Given the description of an element on the screen output the (x, y) to click on. 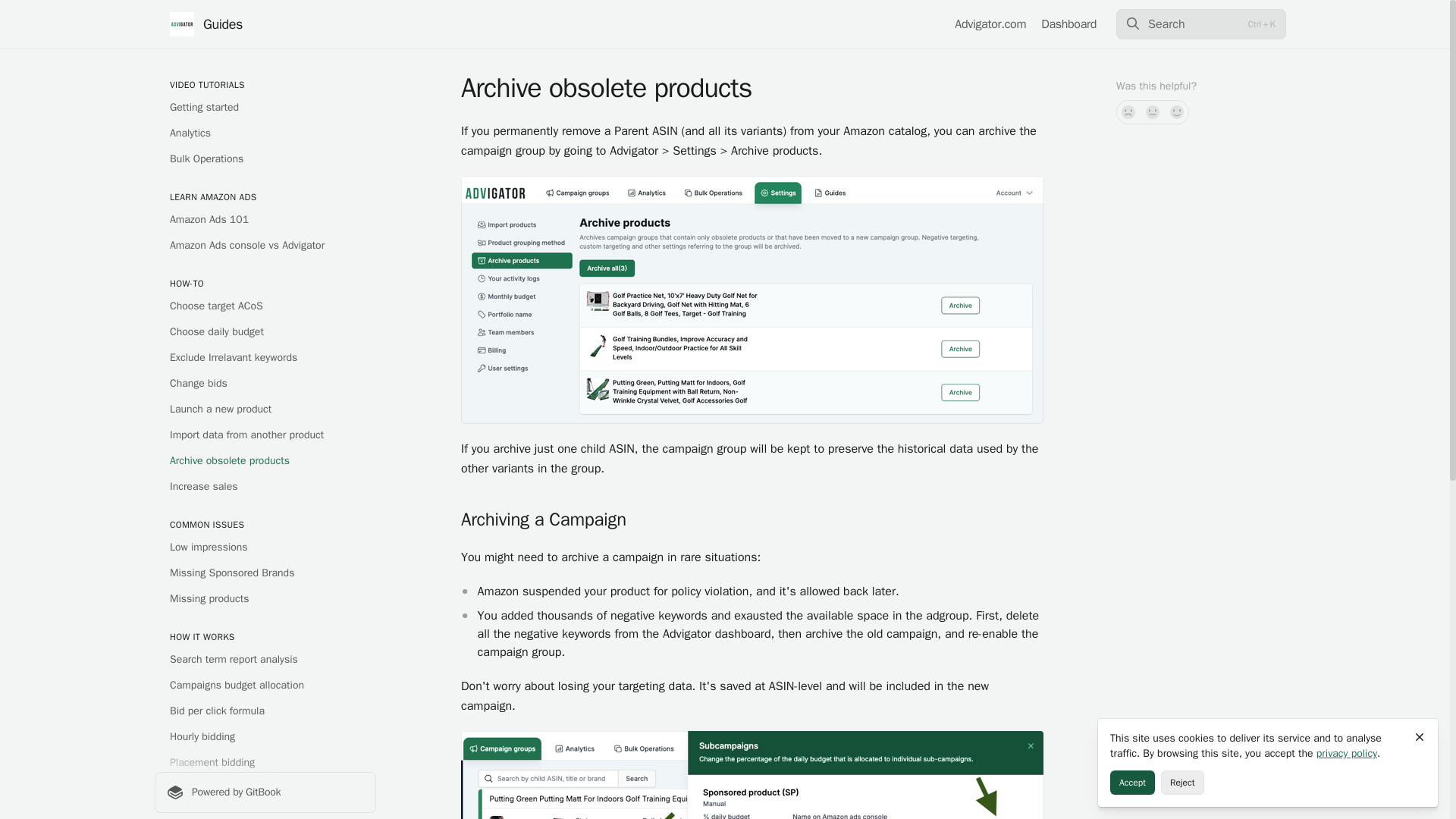
Change bids (264, 383)
Not sure (1152, 111)
Archive obsolete products (264, 460)
Campaigns budget allocation (264, 685)
Getting started (264, 107)
Choose target ACoS (264, 306)
Missing Sponsored Brands (264, 573)
Guides (206, 24)
Placement bidding (264, 762)
Amazon Ads console vs Advigator (264, 245)
